Given the description of an element on the screen output the (x, y) to click on. 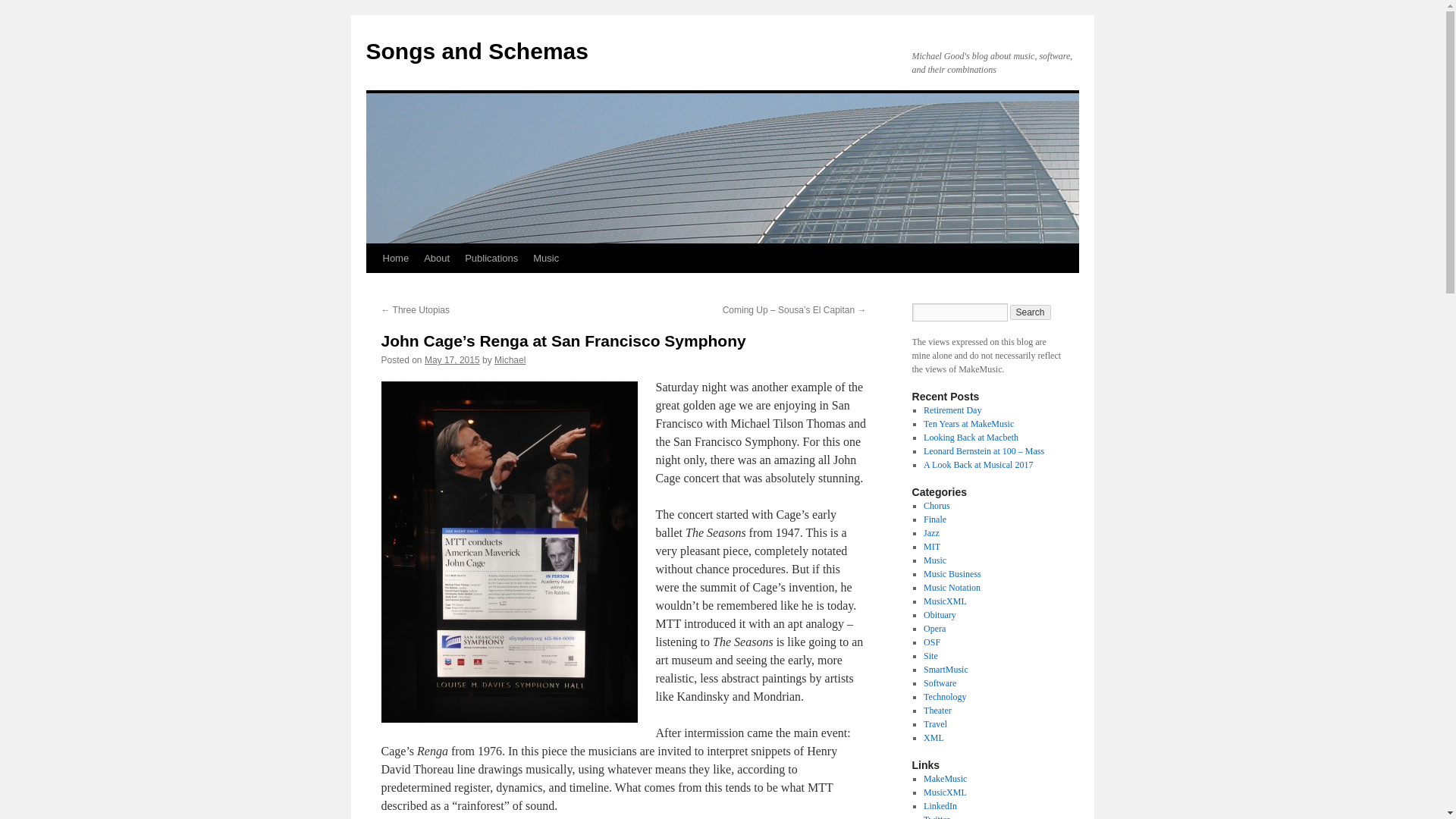
About (436, 258)
Search (1030, 312)
Songs and Schemas (476, 50)
12:36 am (452, 359)
Music (545, 258)
Home (395, 258)
Publications (491, 258)
View all posts by Michael (510, 359)
